Given the description of an element on the screen output the (x, y) to click on. 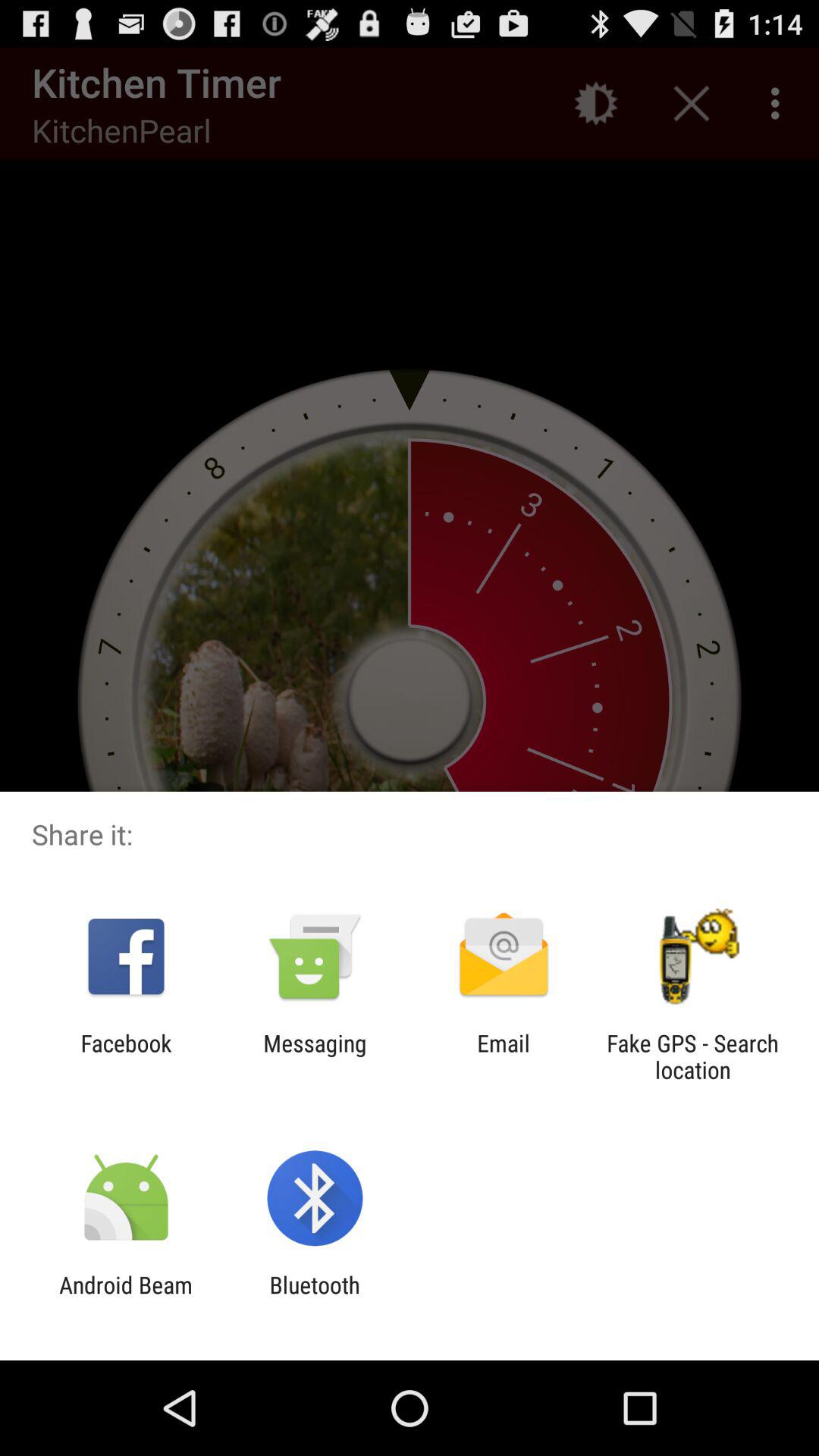
flip until facebook app (125, 1056)
